Given the description of an element on the screen output the (x, y) to click on. 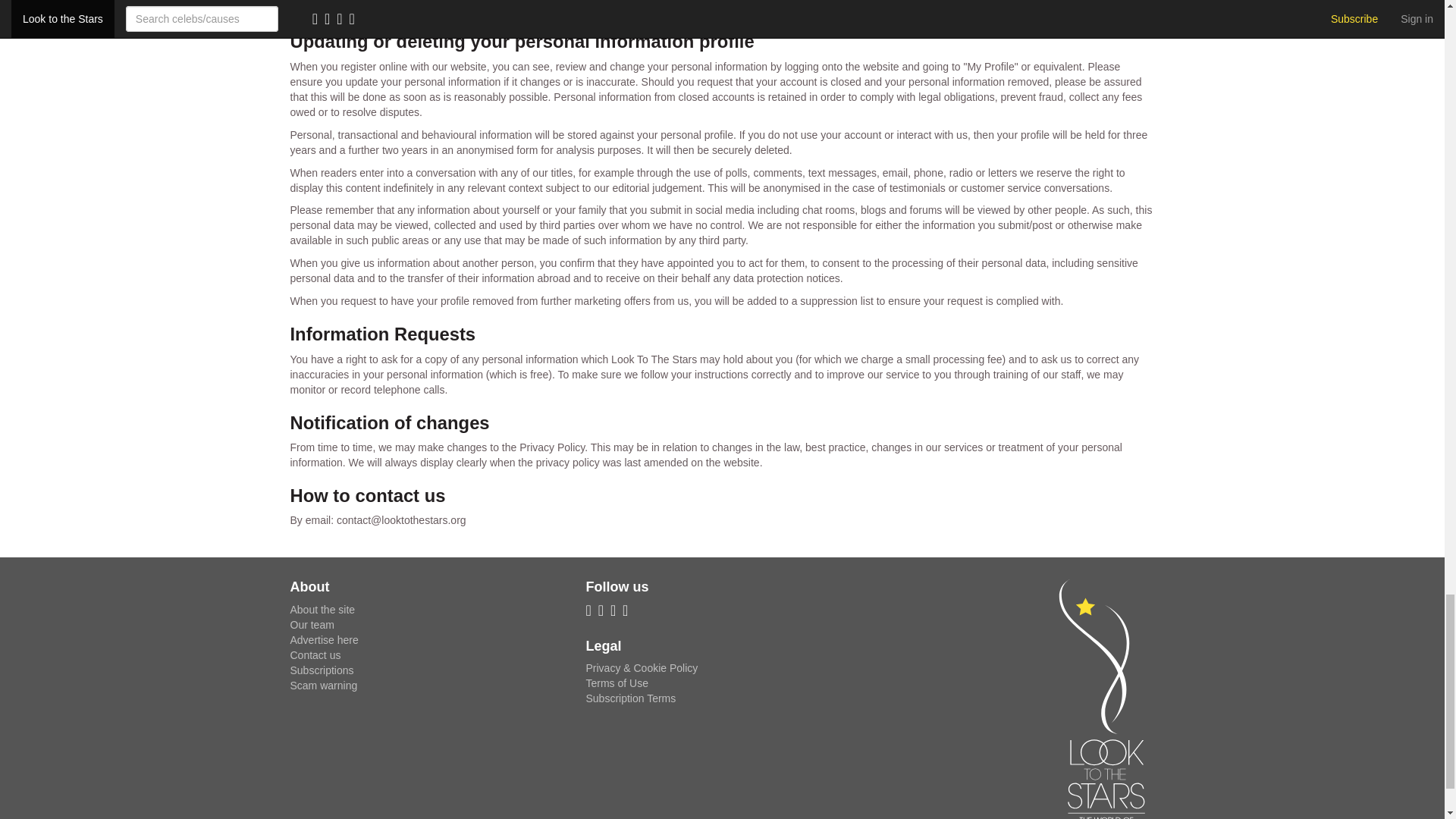
Contact us (314, 654)
Subscriptions (321, 670)
Our team (311, 624)
Twitter (616, 612)
Scam warning (322, 685)
RSS feed (590, 612)
Mailing list (604, 612)
Advertise here (323, 639)
About the site (322, 609)
